Given the description of an element on the screen output the (x, y) to click on. 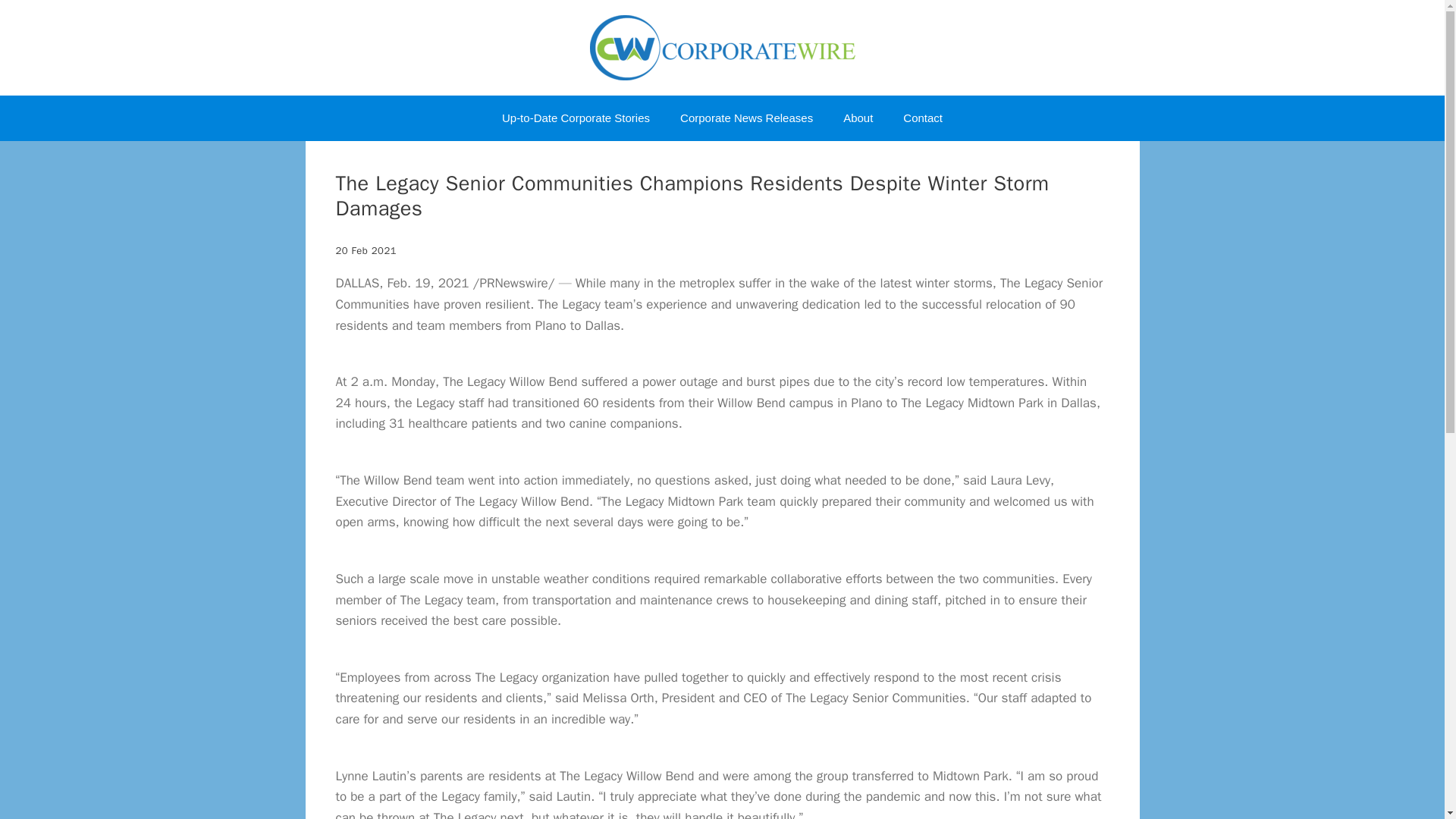
Up-to-Date Corporate Stories (575, 117)
Corporate News Releases (746, 117)
About (858, 117)
Contact (923, 117)
